Given the description of an element on the screen output the (x, y) to click on. 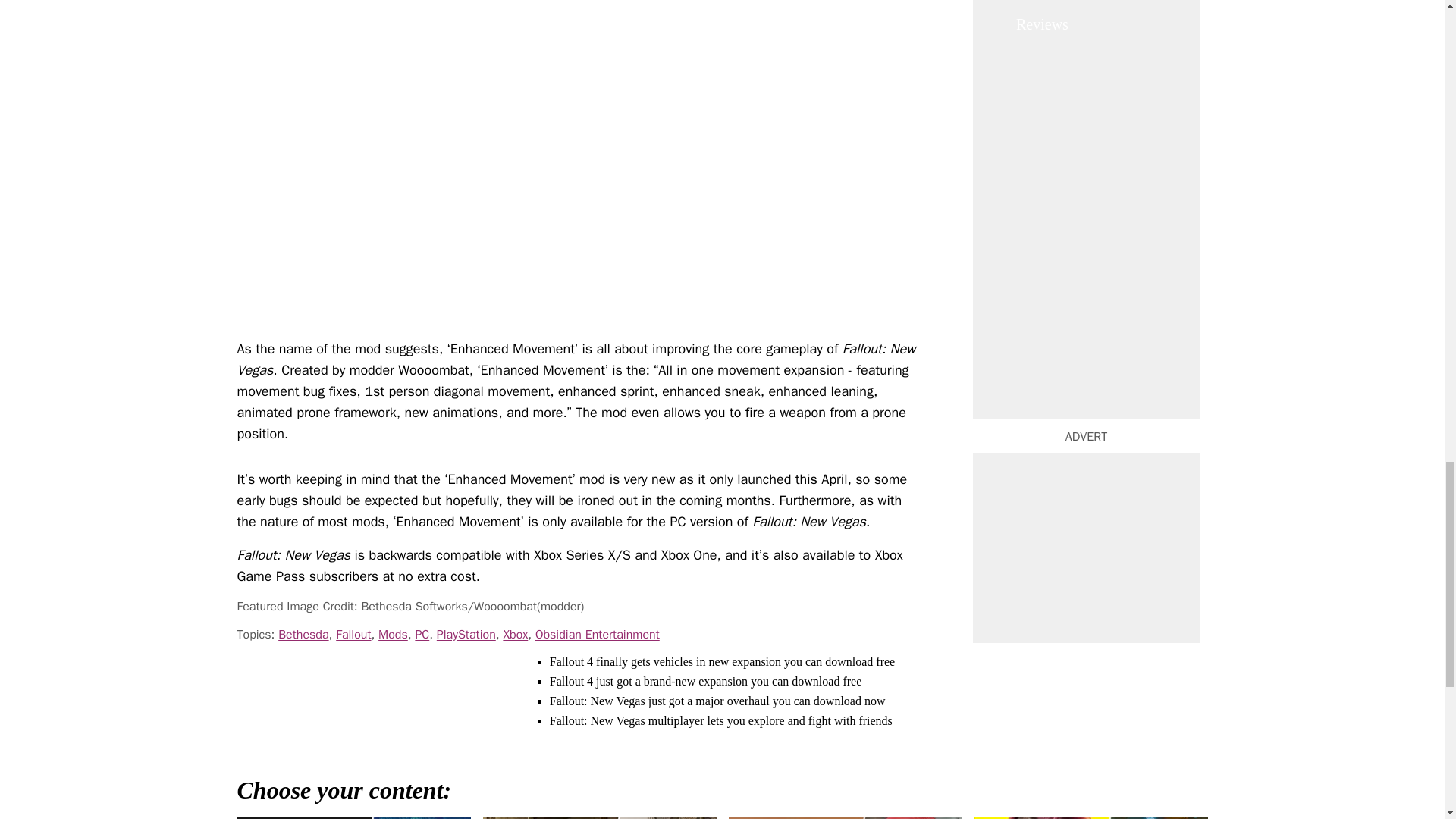
PC (421, 633)
Fallout (353, 633)
Bethesda (303, 633)
Mods (392, 633)
Obsidian Entertainment (597, 633)
PlayStation (466, 633)
Xbox (514, 633)
